Given the description of an element on the screen output the (x, y) to click on. 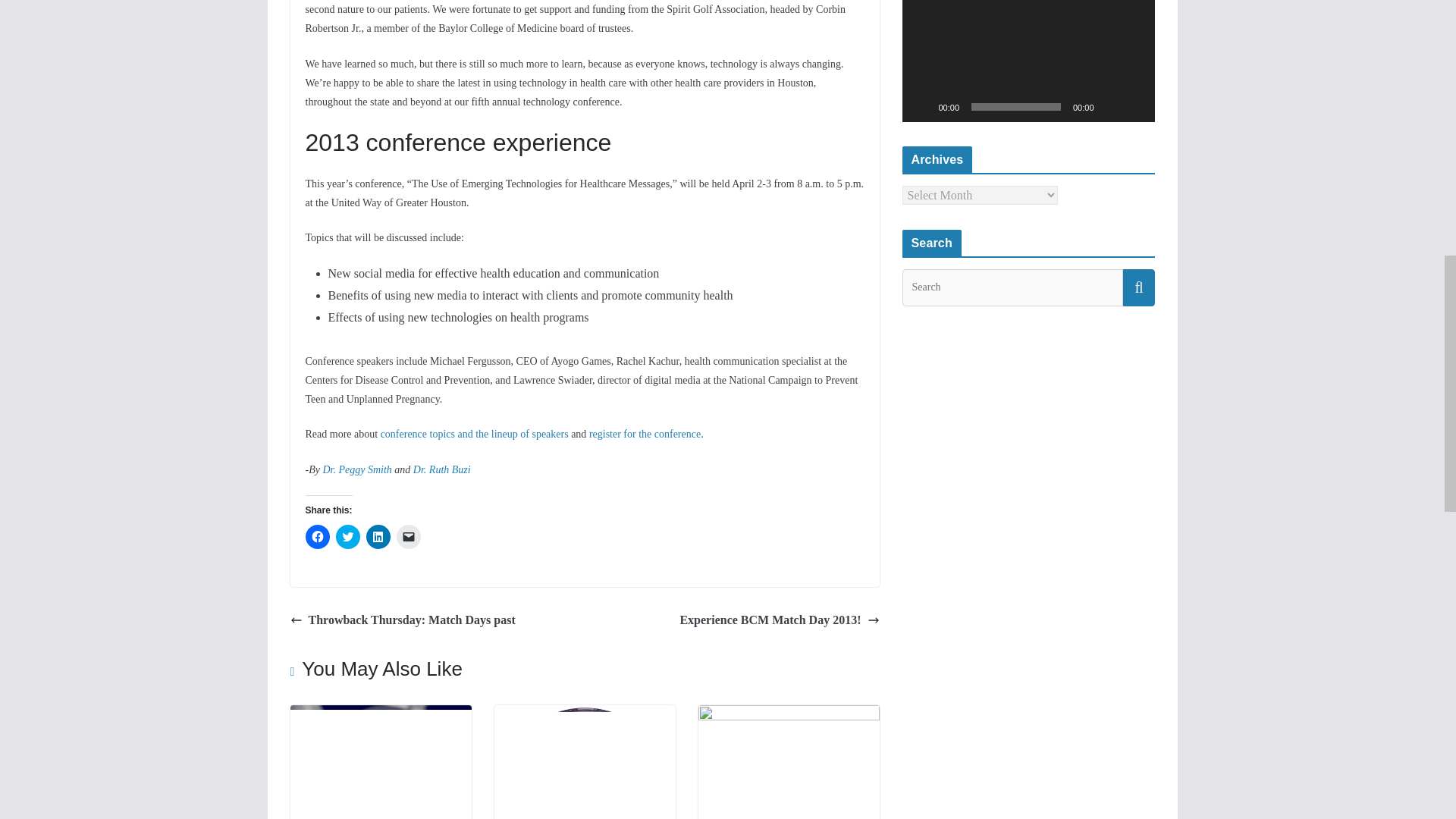
Click to share on Twitter (346, 536)
Click to share on LinkedIn (377, 536)
Click to share on Facebook (316, 536)
Click to email a link to a friend (408, 536)
